Given the description of an element on the screen output the (x, y) to click on. 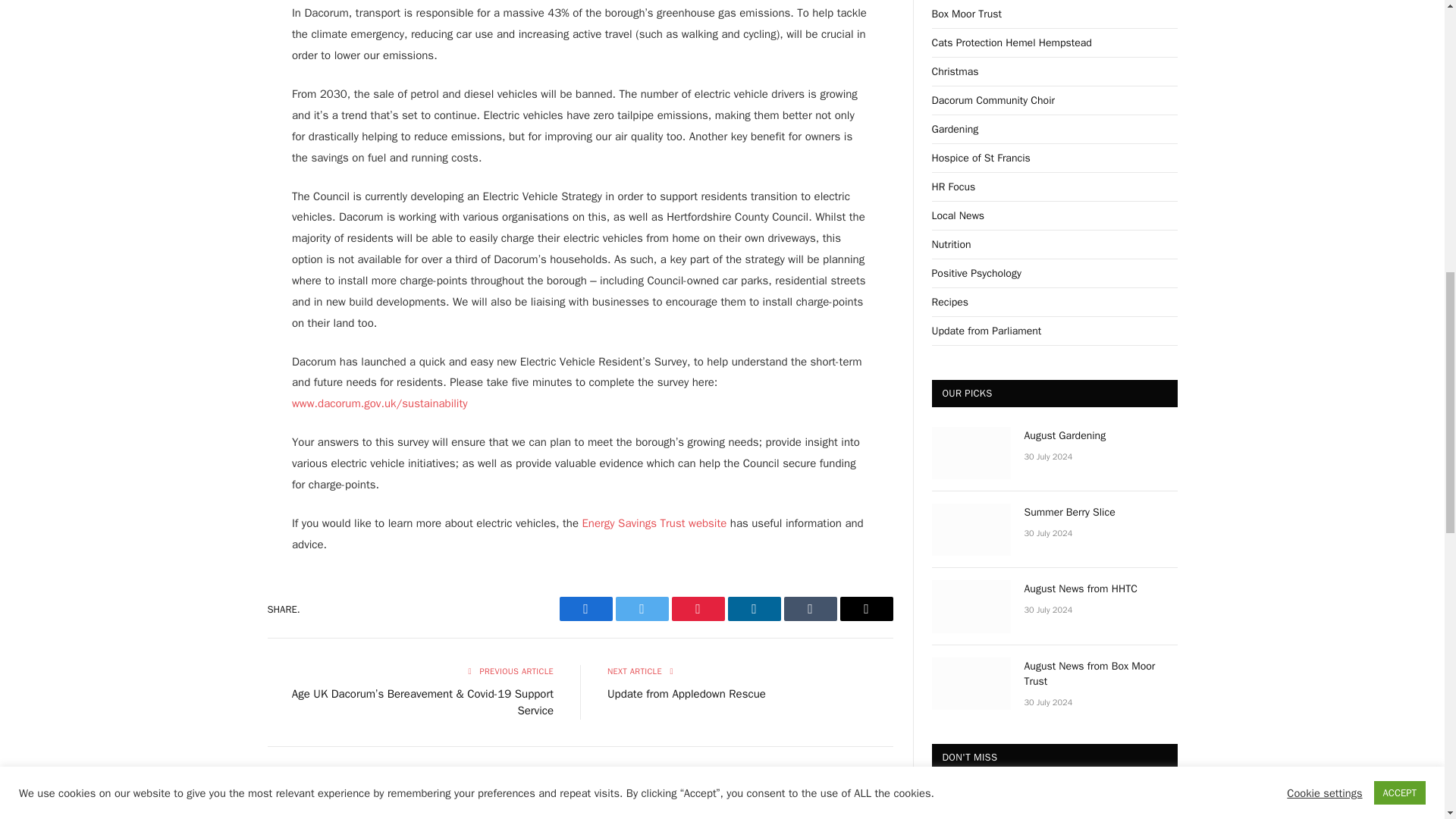
Share on Facebook (585, 608)
Share on LinkedIn (754, 608)
Share on Pinterest (698, 608)
